Given the description of an element on the screen output the (x, y) to click on. 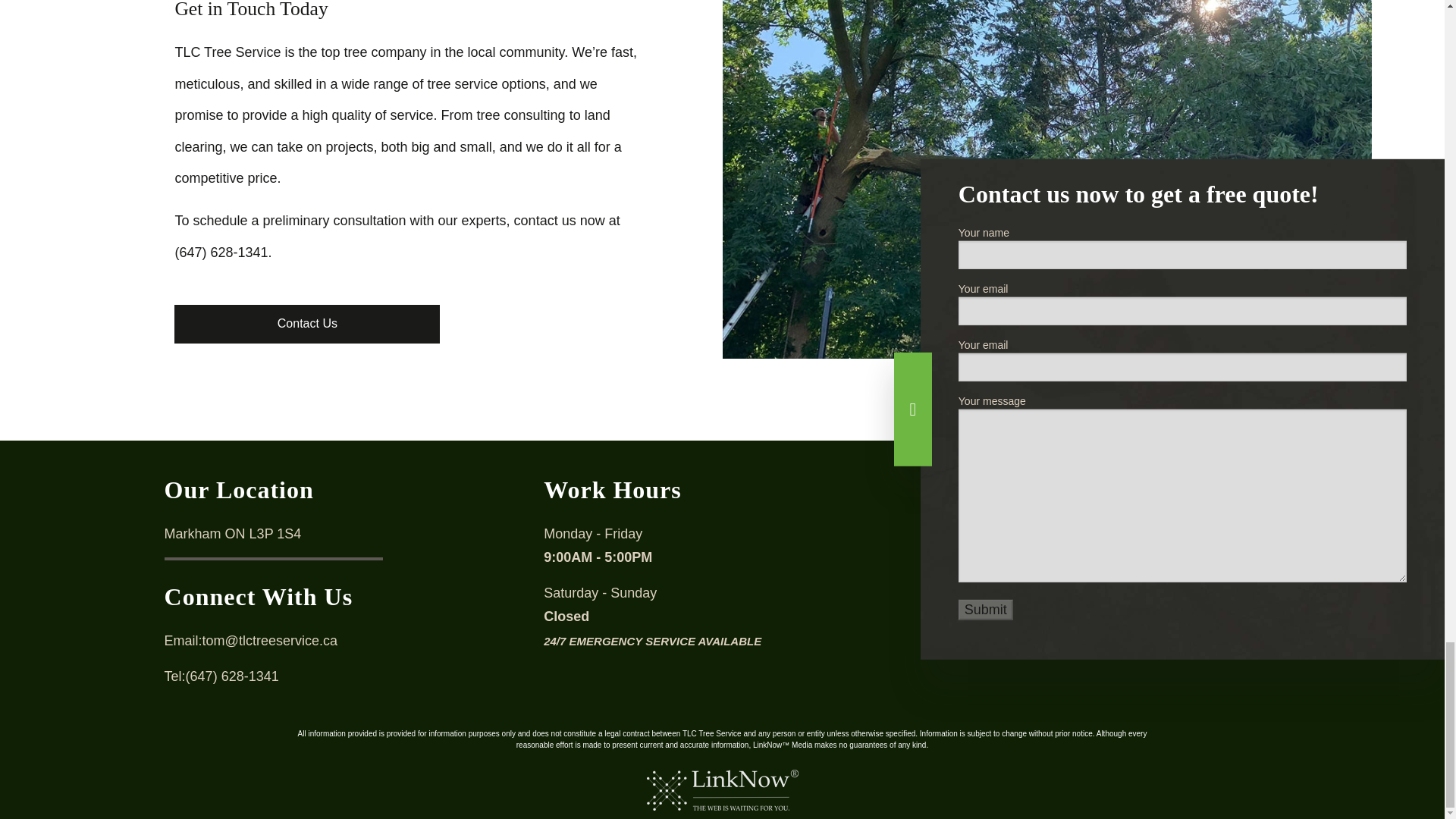
Learn About TLC Tree Service (306, 323)
TLC Tree Service's Google Maps (932, 468)
e-Transfer (1015, 560)
